Given the description of an element on the screen output the (x, y) to click on. 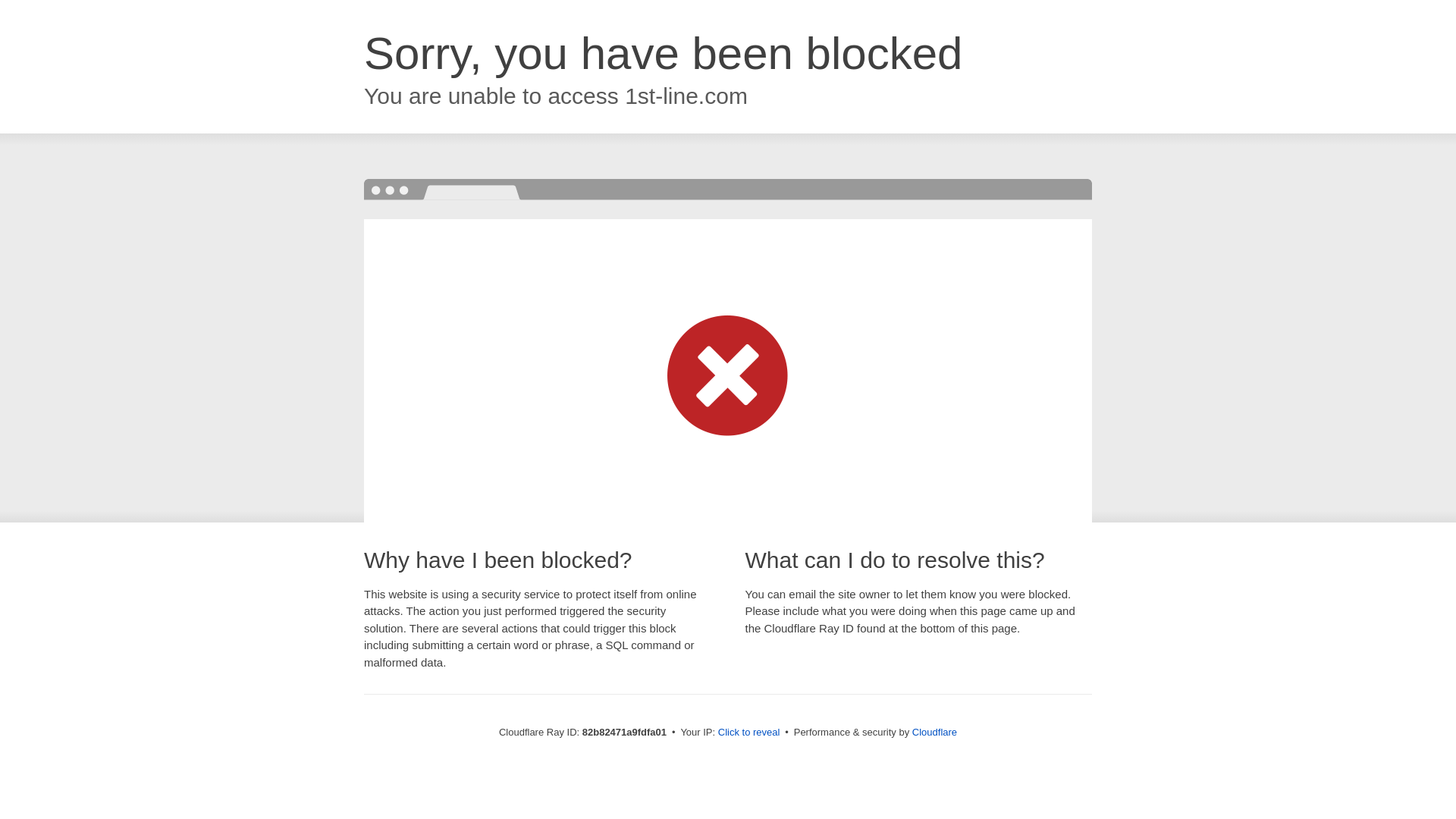
Cloudflare Element type: text (934, 731)
Click to reveal Element type: text (749, 732)
